Given the description of an element on the screen output the (x, y) to click on. 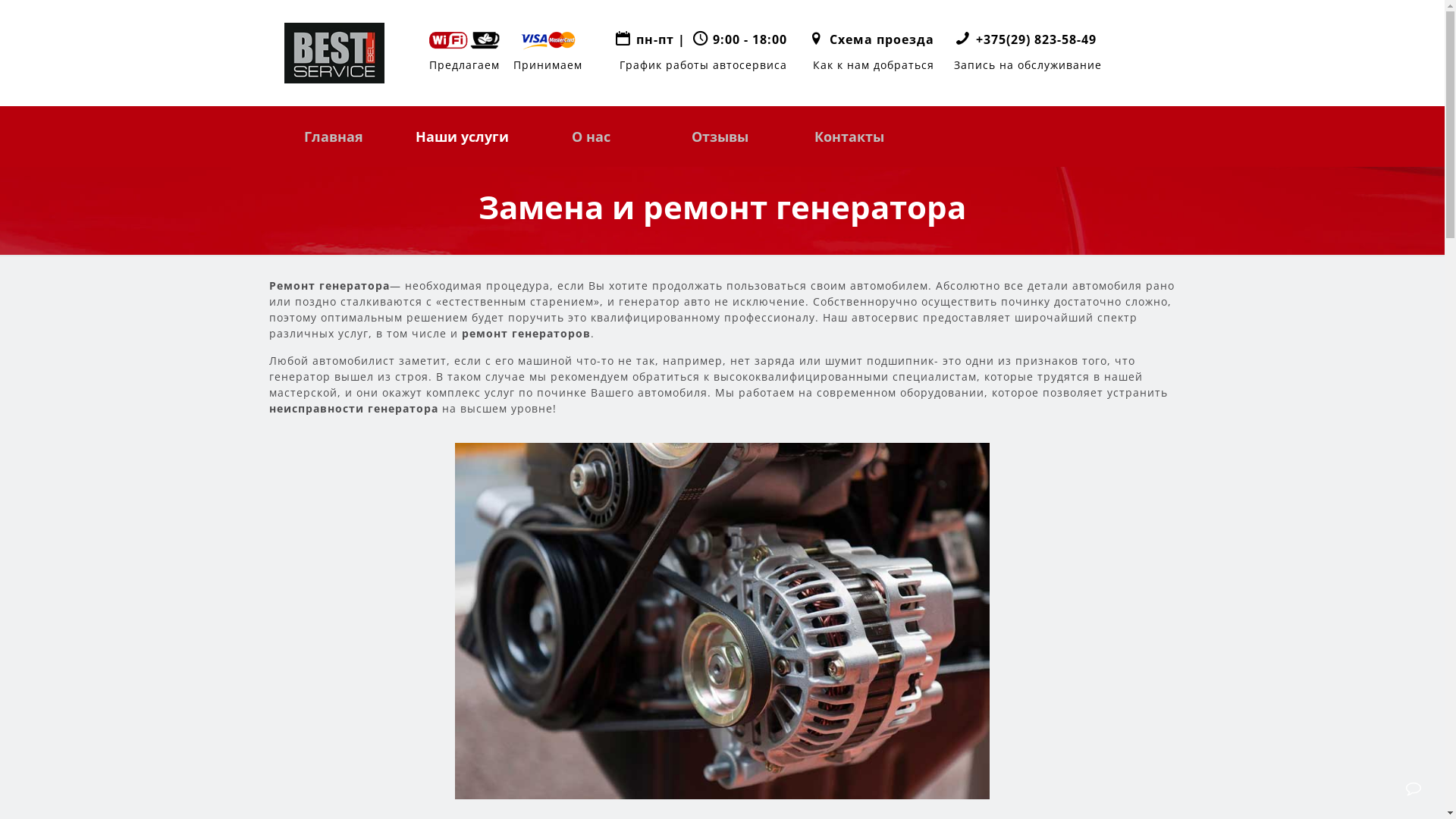
+375(29) 823-58-49 Element type: text (1035, 39)
